Given the description of an element on the screen output the (x, y) to click on. 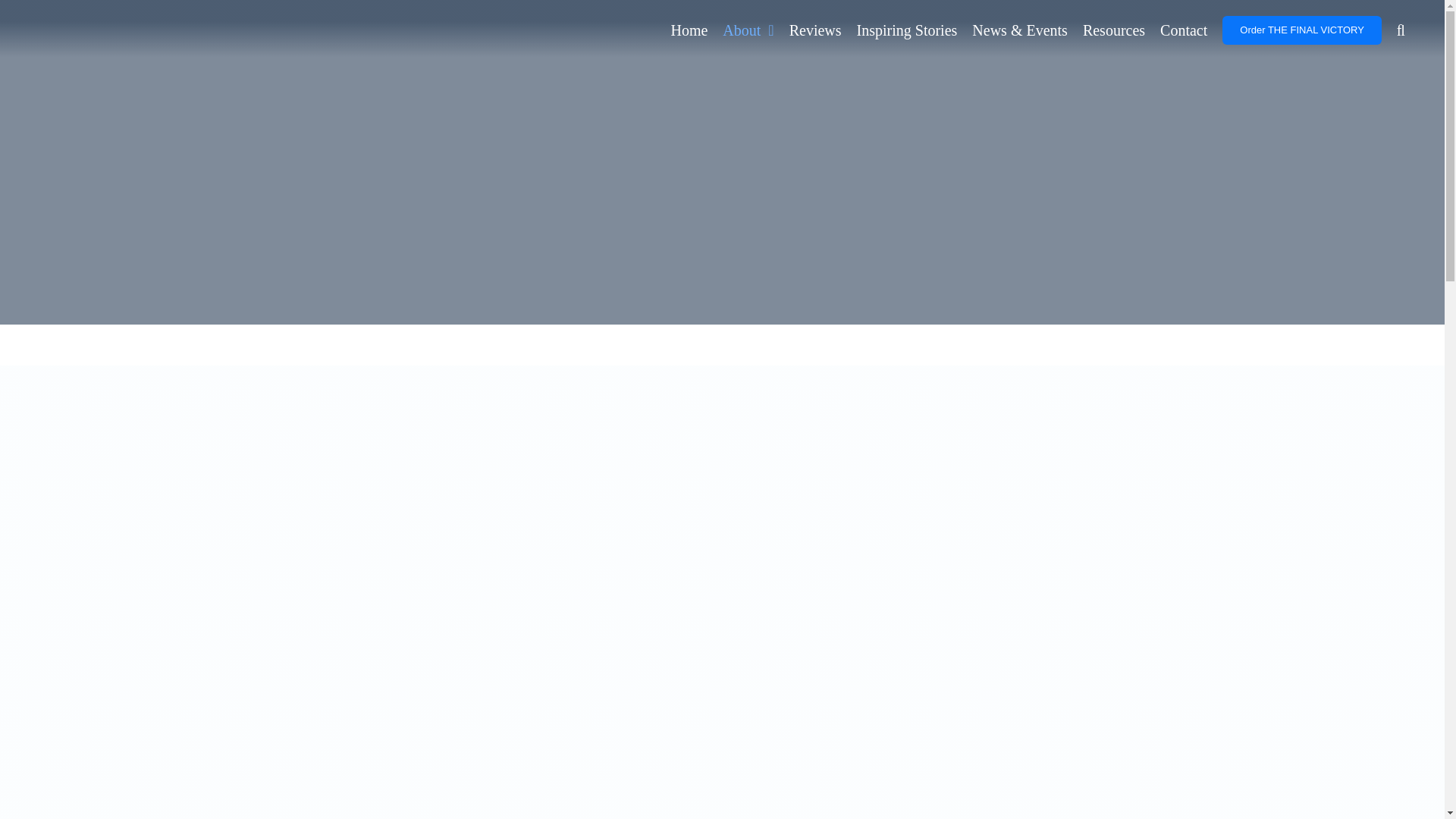
Inspiring Stories (907, 30)
Resources (1113, 30)
Order THE FINAL VICTORY (1302, 30)
